Given the description of an element on the screen output the (x, y) to click on. 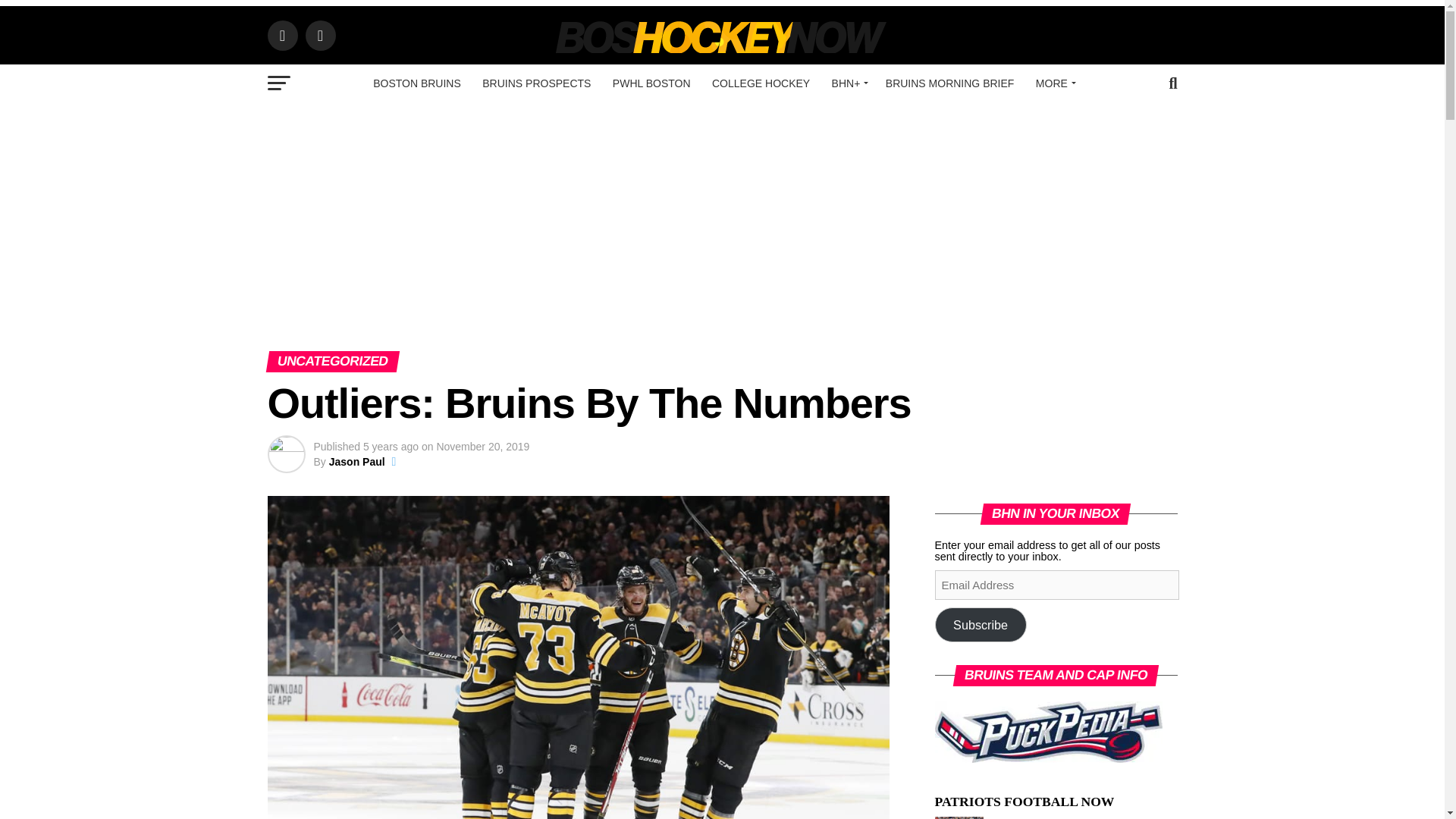
Posts by Jason Paul (357, 461)
Bruins Team and Cap Info (1047, 731)
